Given the description of an element on the screen output the (x, y) to click on. 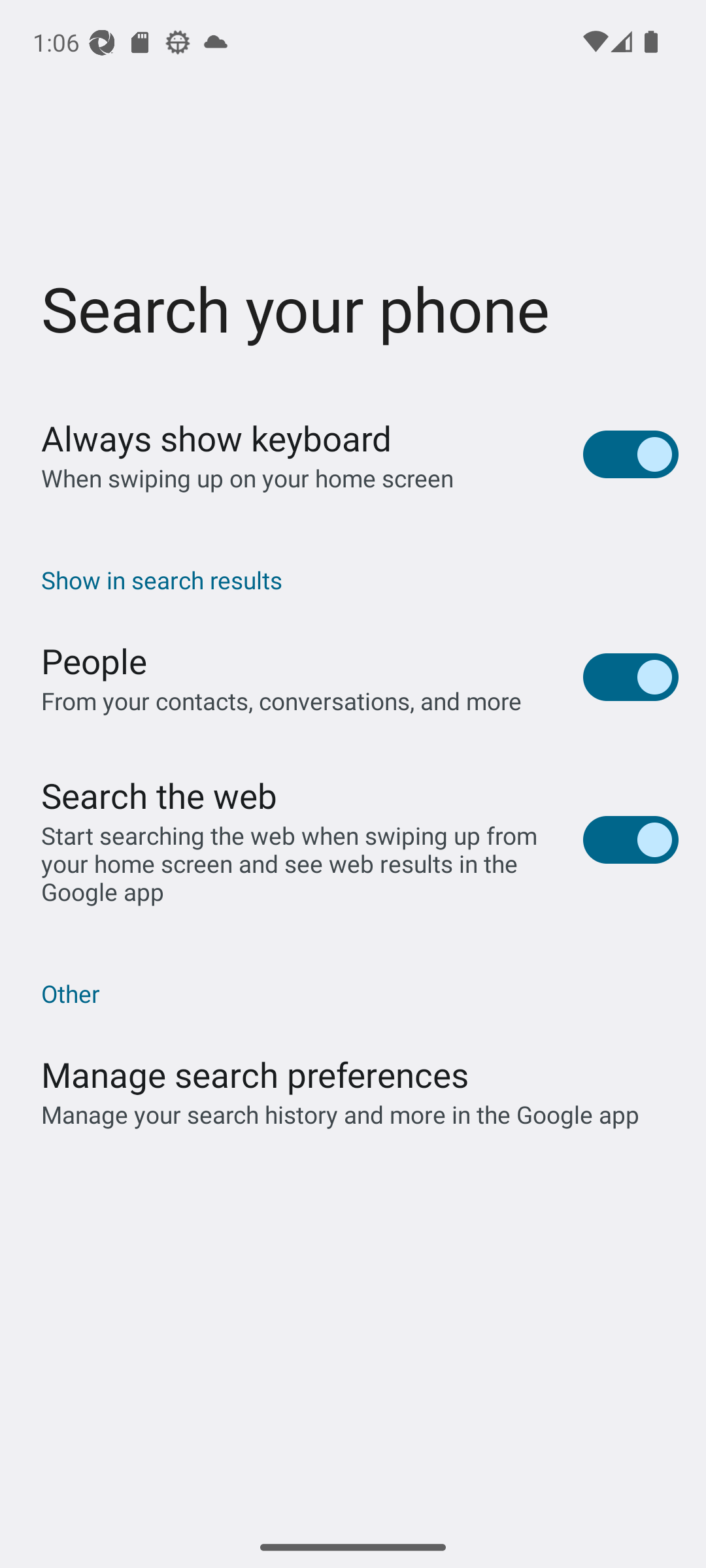
People From your contacts, conversations, and more (353, 676)
